Given the description of an element on the screen output the (x, y) to click on. 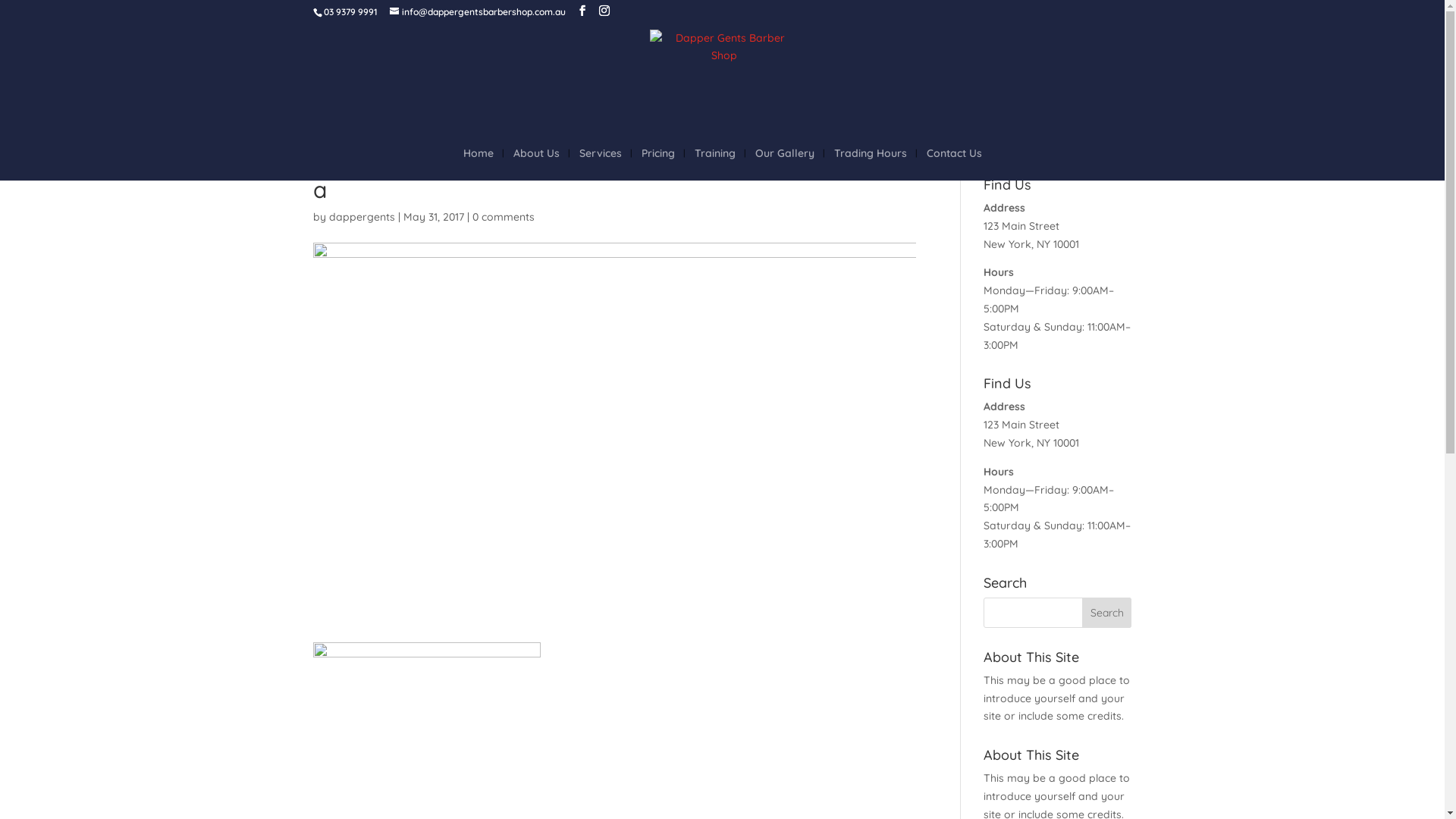
Search Element type: text (1107, 612)
Our Gallery Element type: text (784, 163)
Trading Hours Element type: text (870, 163)
About Us Element type: text (535, 163)
info@dappergentsbarbershop.com.au Element type: text (477, 11)
Pricing Element type: text (657, 163)
dappergents Element type: text (362, 216)
Contact Us Element type: text (954, 163)
Home Element type: text (477, 163)
Training Element type: text (714, 163)
0 comments Element type: text (502, 216)
Services Element type: text (600, 163)
